Given the description of an element on the screen output the (x, y) to click on. 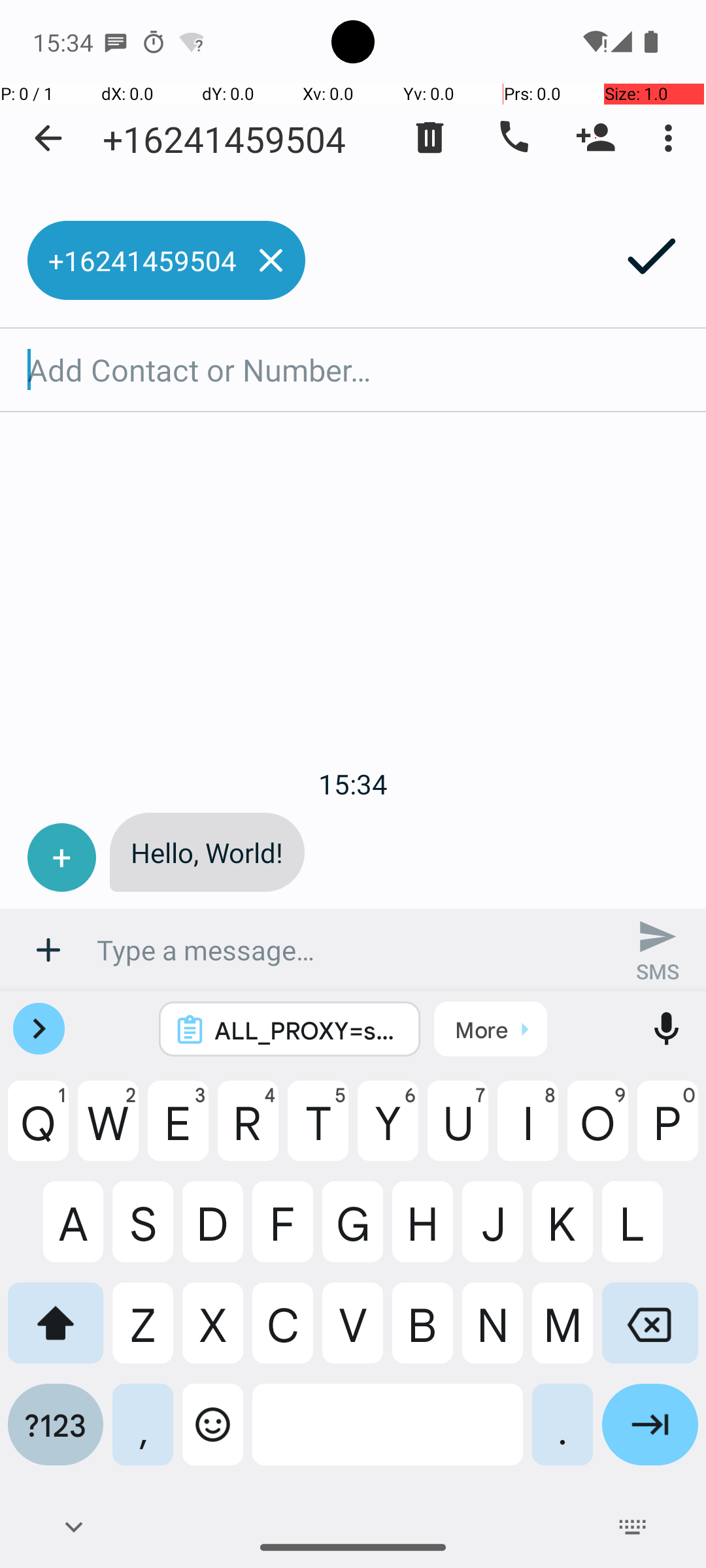
+16241459504 Element type: android.widget.TextView (223, 138)
Add Contact or Number… Element type: android.widget.AutoCompleteTextView (352, 369)
Hello, World! Element type: android.widget.TextView (206, 851)
